Given the description of an element on the screen output the (x, y) to click on. 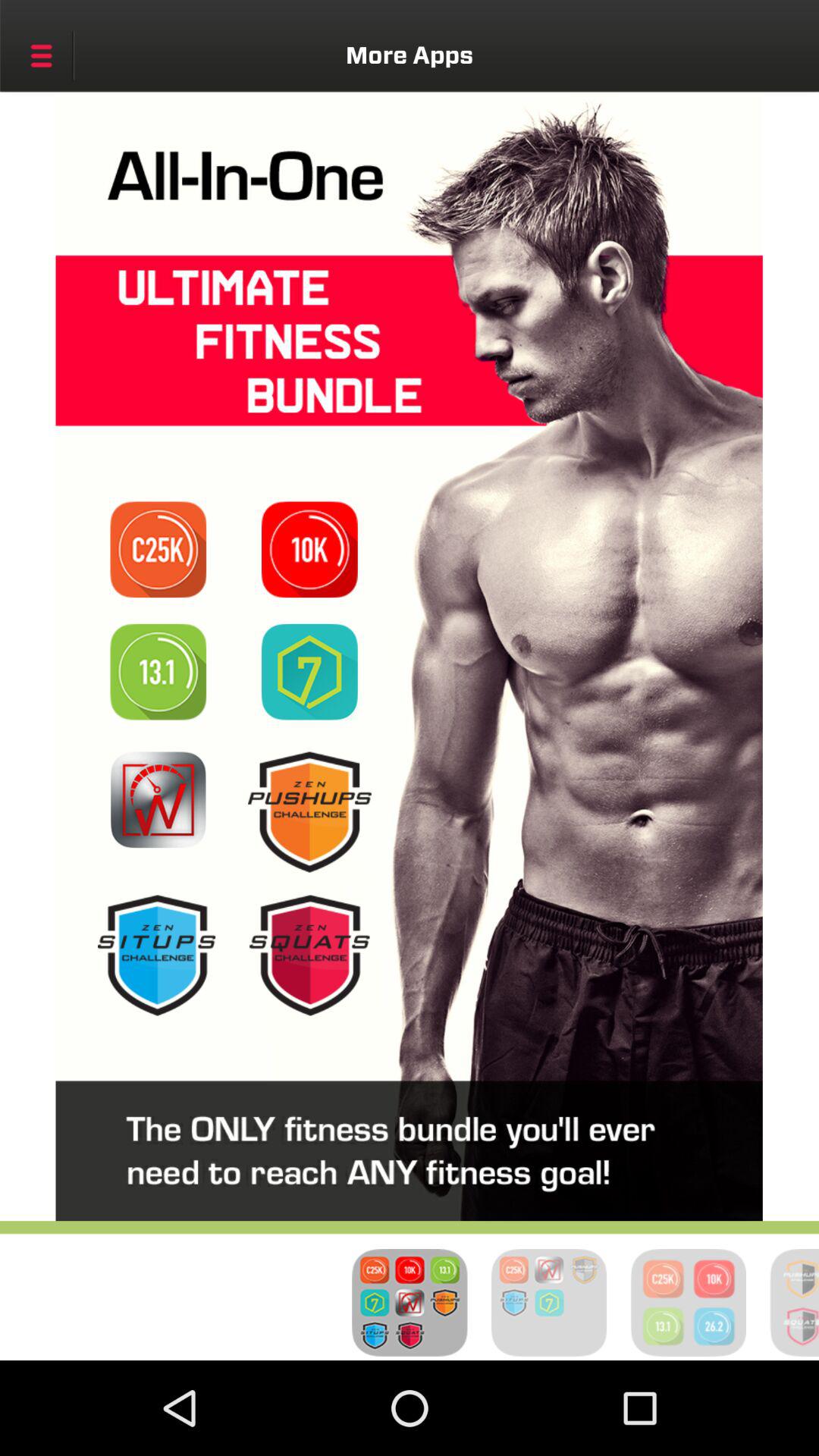
setting button (40, 55)
